Given the description of an element on the screen output the (x, y) to click on. 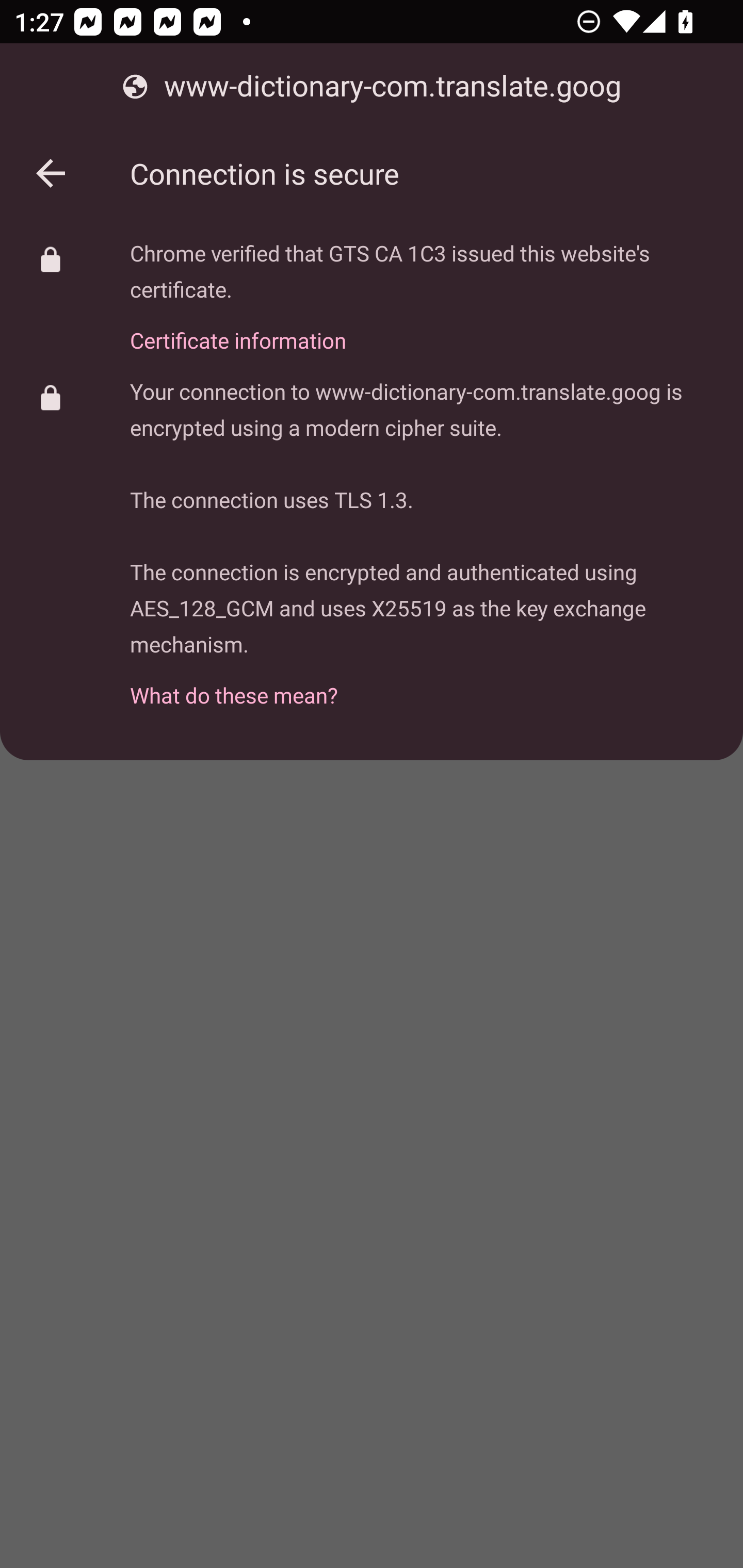
www-dictionary-com.translate.goog (371, 86)
Back (50, 173)
Certificate information (422, 329)
What do these mean? (422, 684)
